Given the description of an element on the screen output the (x, y) to click on. 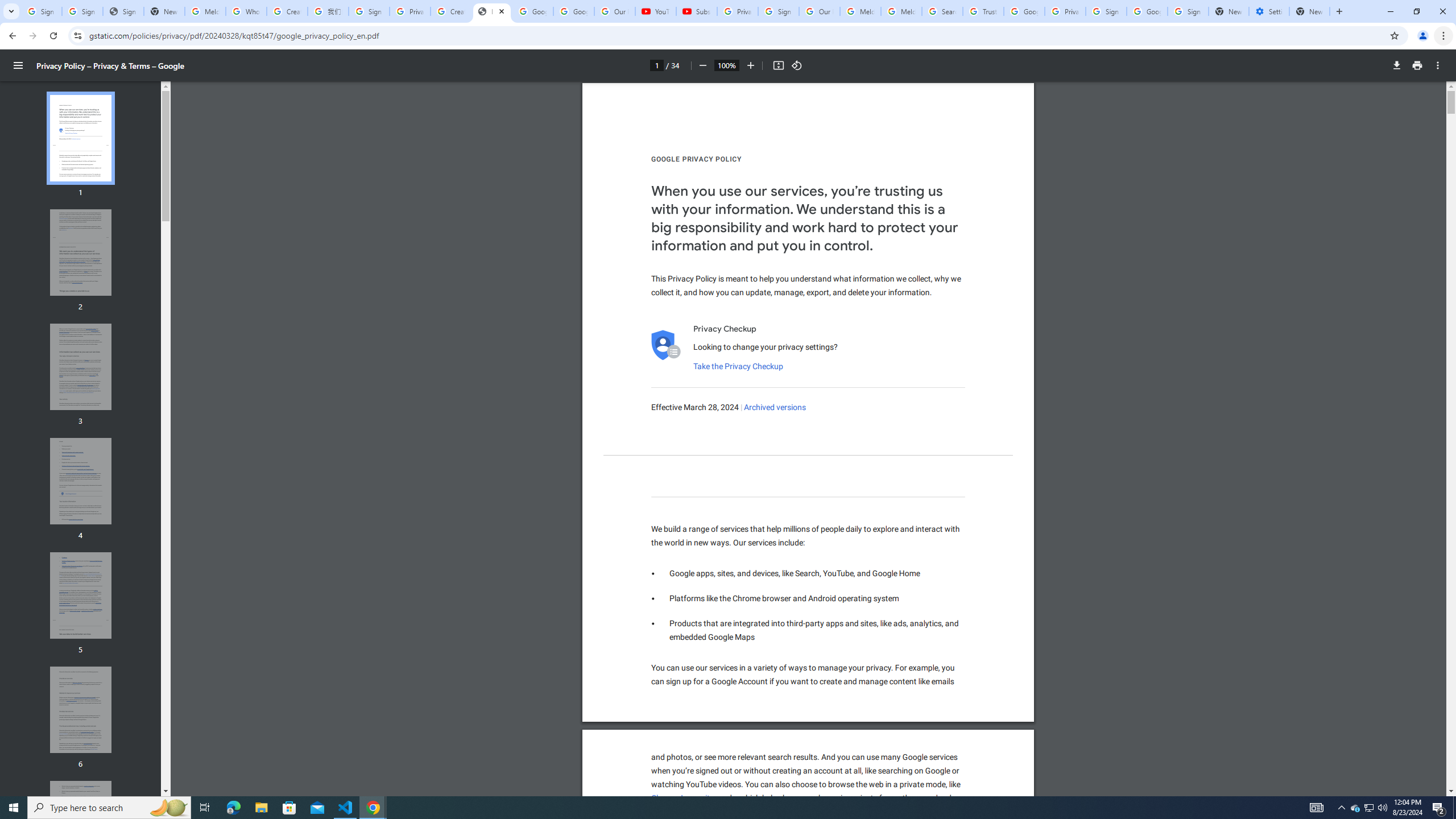
Google Cybersecurity Innovations - Google Safety Center (1146, 11)
Subscriptions - YouTube (696, 11)
Fit to page (777, 65)
Zoom out (702, 65)
Sign In - USA TODAY (122, 11)
Sign in - Google Accounts (1105, 11)
Sign in - Google Accounts (1187, 11)
Trusted Information and Content - Google Safety Center (983, 11)
Download (1396, 65)
